Given the description of an element on the screen output the (x, y) to click on. 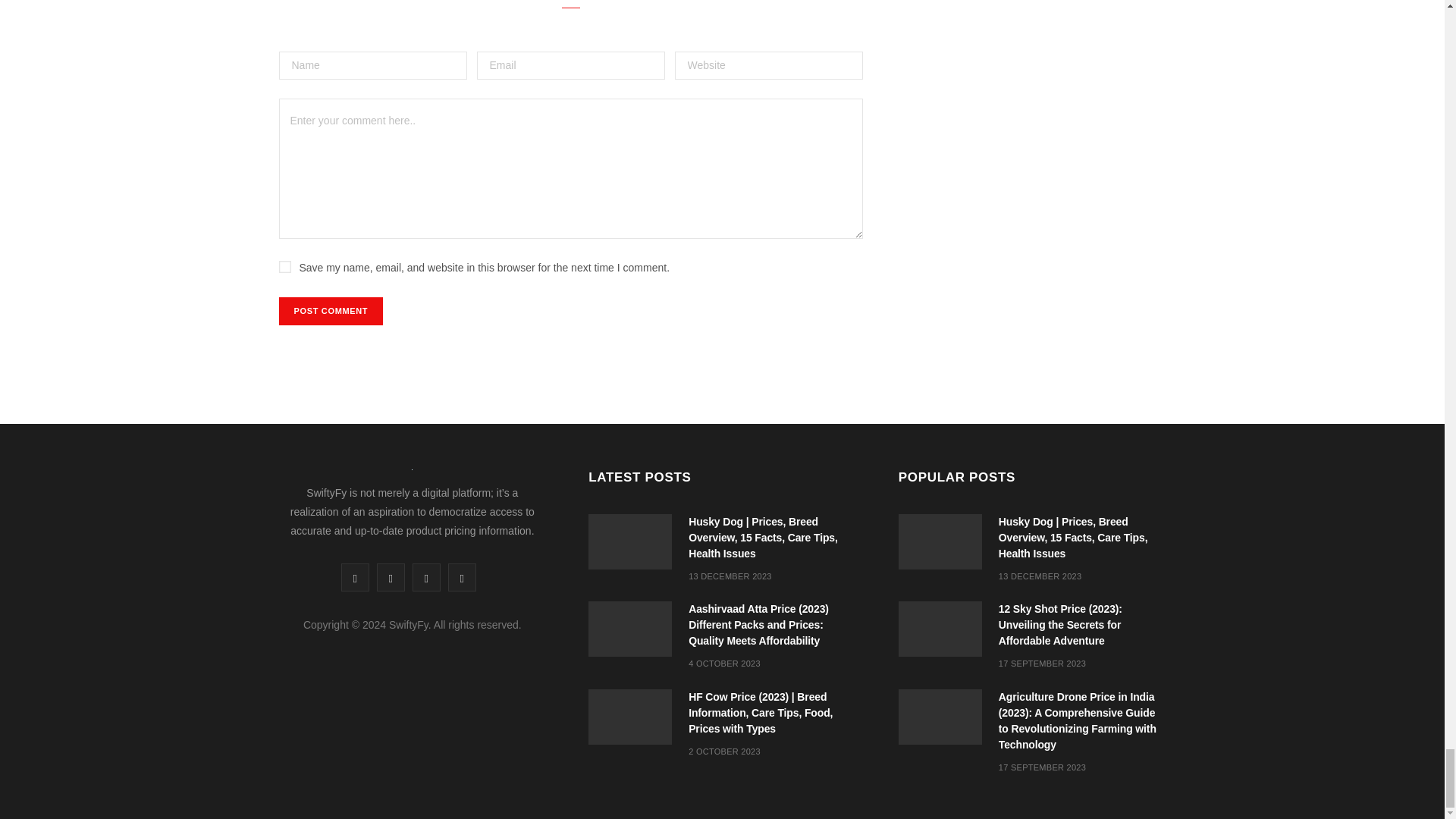
yes (285, 266)
Post Comment (331, 311)
